Given the description of an element on the screen output the (x, y) to click on. 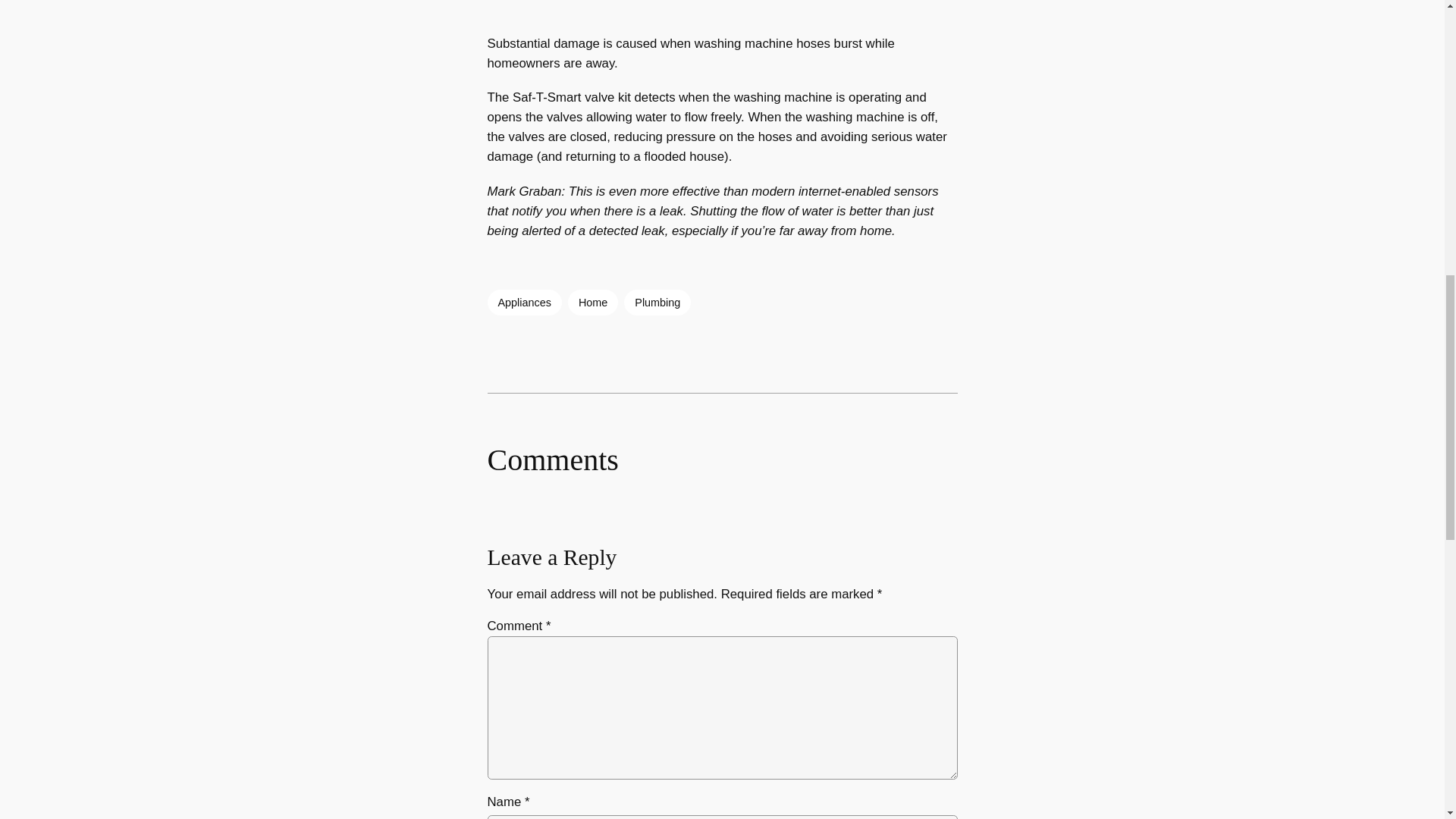
Appliances (523, 302)
Plumbing (657, 302)
Home (592, 302)
